Given the description of an element on the screen output the (x, y) to click on. 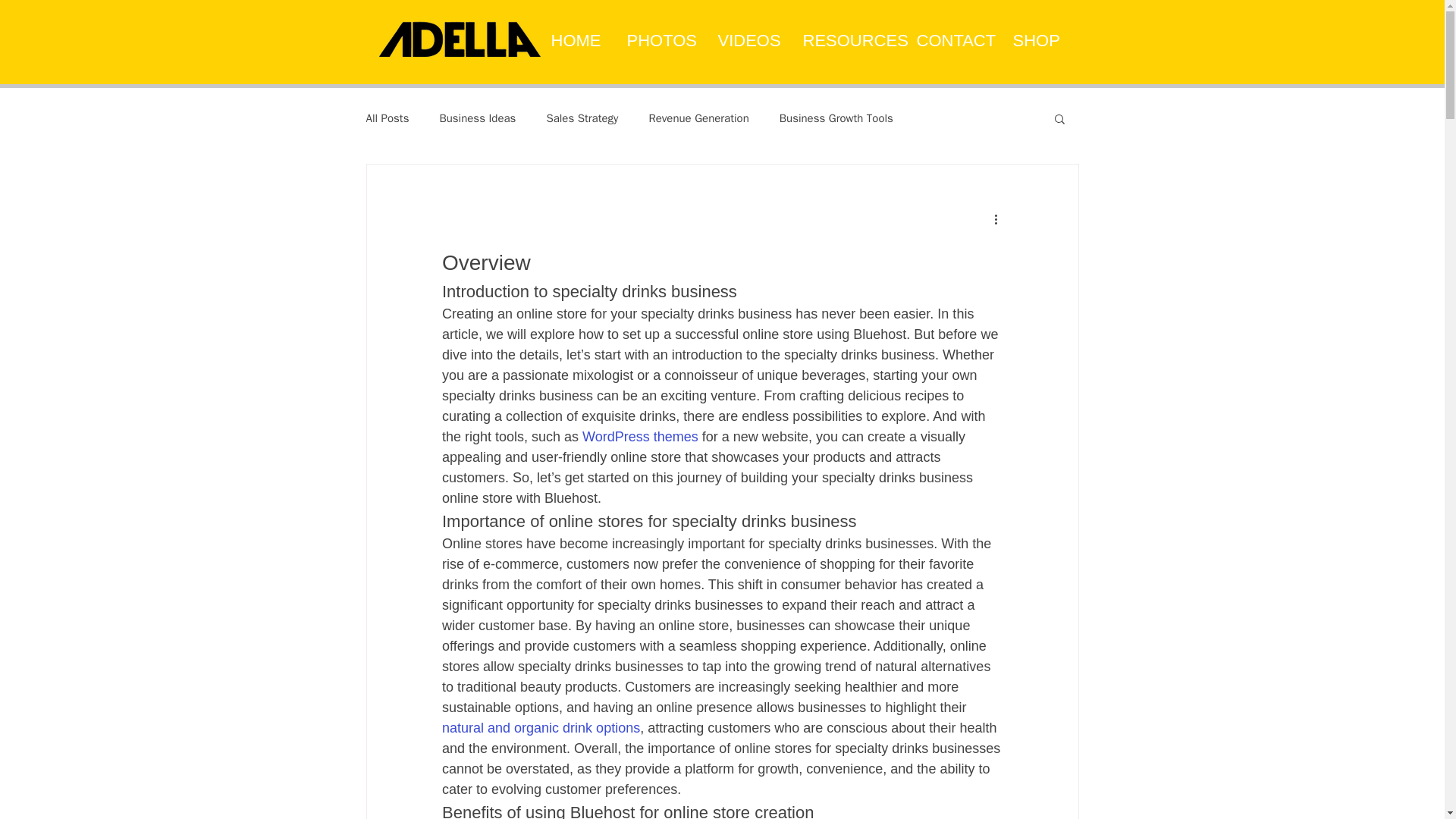
Business Ideas (477, 117)
WordPress themes (640, 436)
Revenue Generation (697, 117)
HOME (574, 33)
Business Growth Tools (835, 117)
All Posts (387, 117)
PHOTOS (657, 33)
RESOURCES (845, 33)
Sales Strategy (581, 117)
SHOP (1036, 33)
natural and organic drink options (540, 727)
CONTACT (950, 33)
VIDEOS (746, 33)
